Given the description of an element on the screen output the (x, y) to click on. 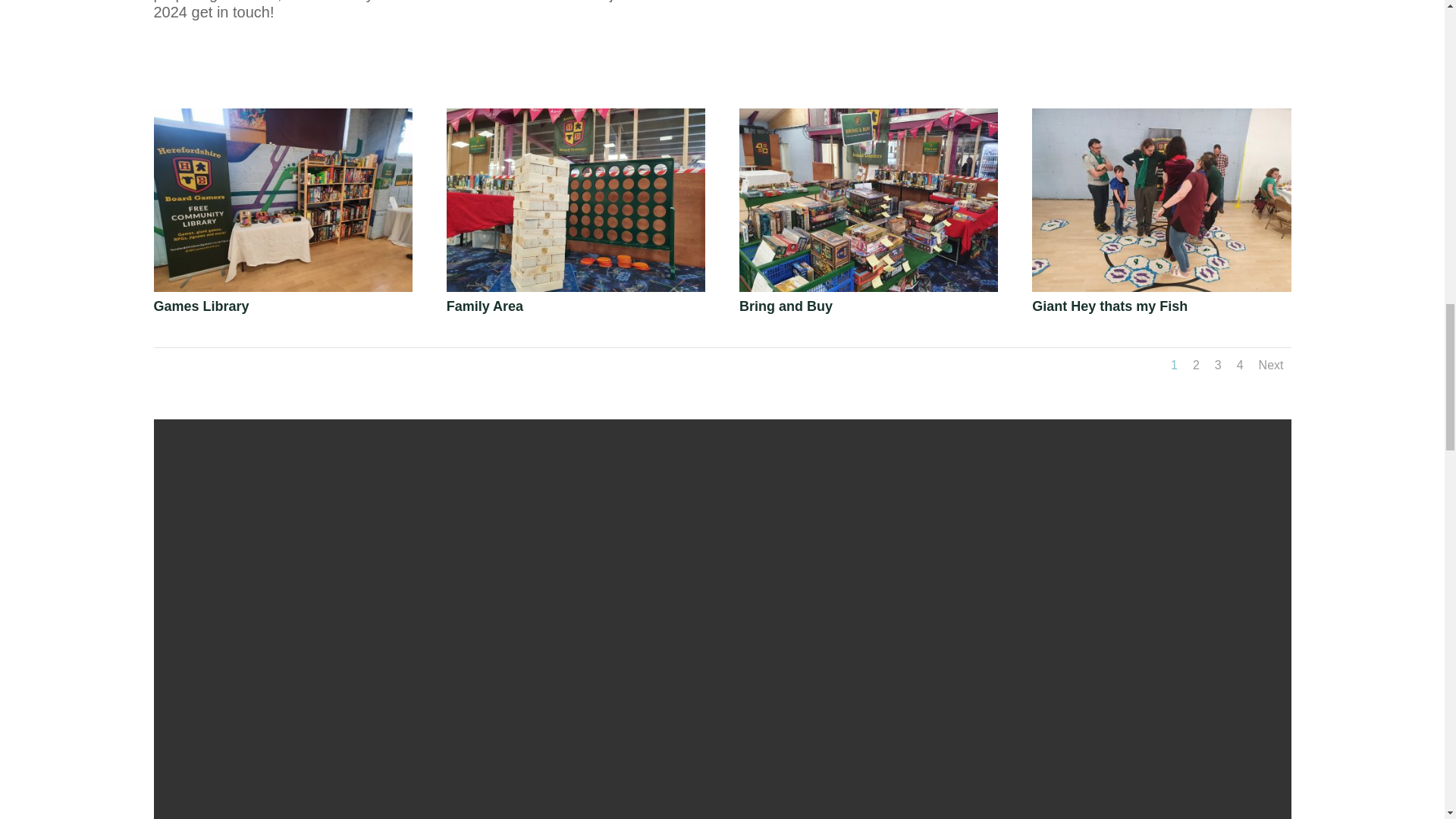
Giant Hey thats my Fish (1161, 287)
Games Library (282, 287)
Family Area (575, 287)
Bring and Buy (868, 287)
